Given the description of an element on the screen output the (x, y) to click on. 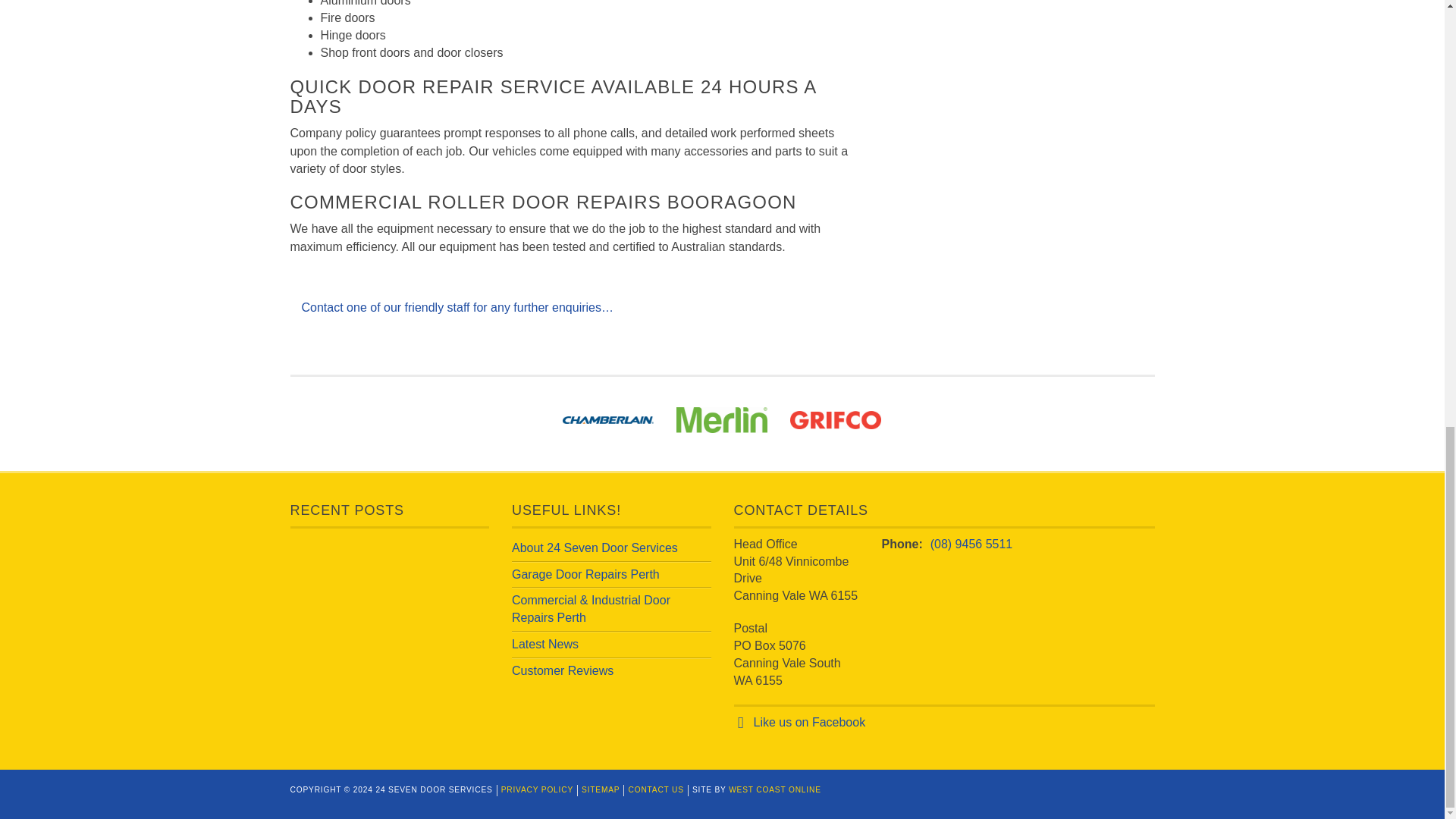
Latest News (545, 644)
SITEMAP (600, 789)
PRIVACY POLICY (536, 789)
Customer Reviews (562, 670)
Like us on Facebook (810, 721)
WEST COAST ONLINE (775, 789)
CONTACT US (654, 789)
Garage Door Repairs Perth (585, 574)
About 24 Seven Door Services (595, 547)
